Given the description of an element on the screen output the (x, y) to click on. 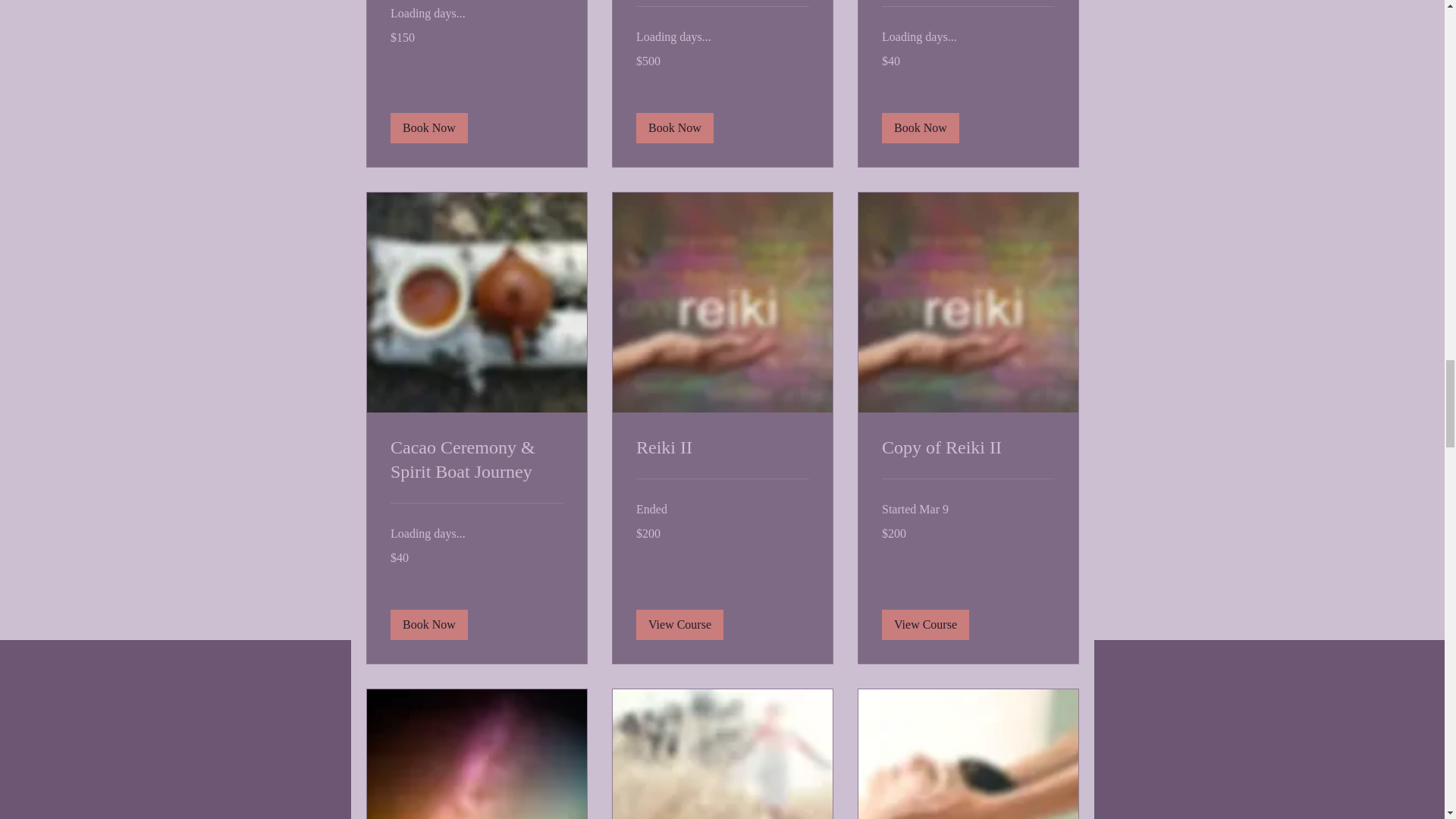
View Course (924, 624)
Copy of Reiki II (967, 448)
Book Now (919, 128)
Book Now (428, 128)
Reiki II (721, 448)
Book Now (428, 624)
View Course (678, 624)
Book Now (673, 128)
